Given the description of an element on the screen output the (x, y) to click on. 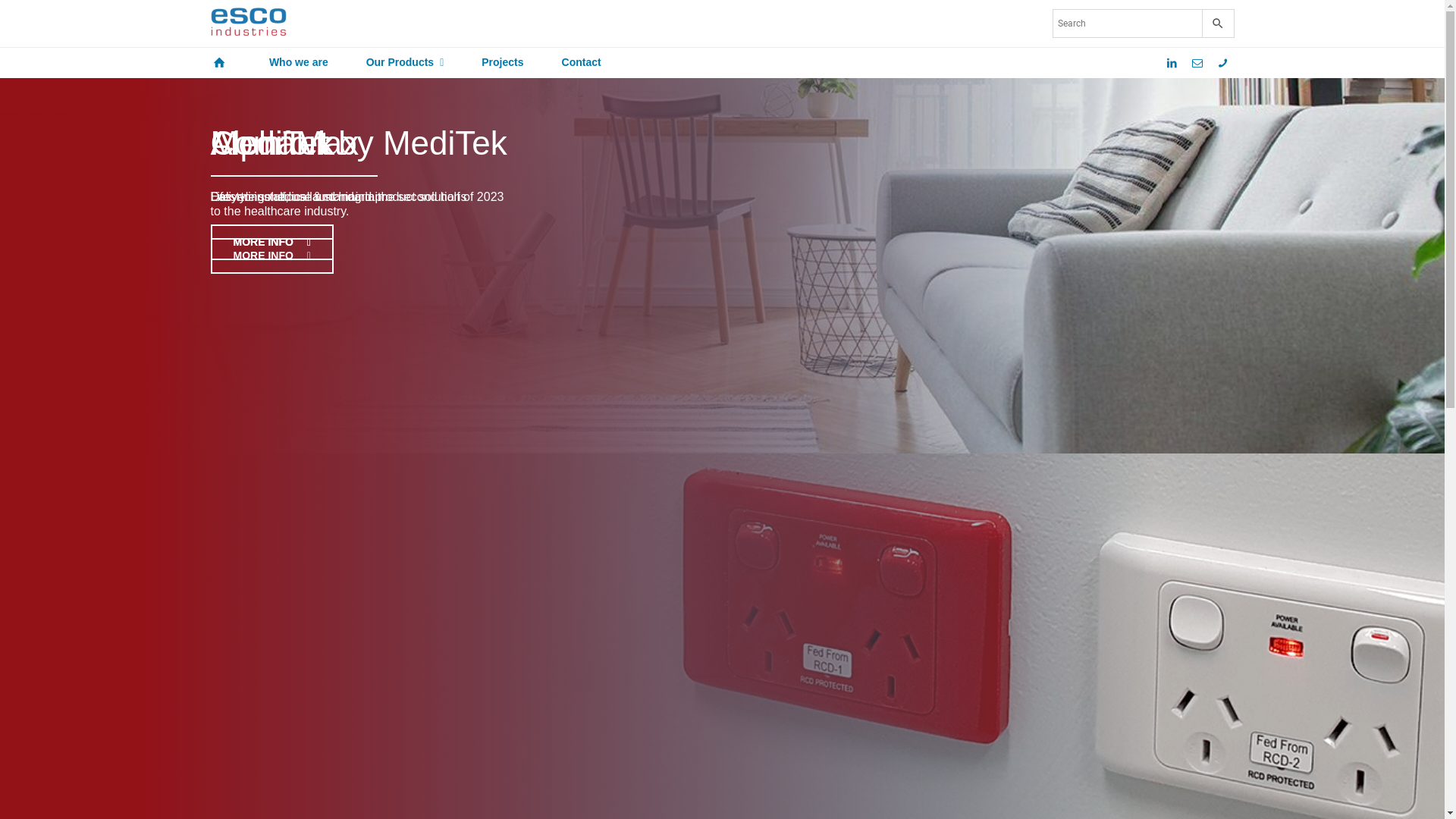
Projects Element type: text (502, 62)
ESCO Industries Element type: hover (248, 23)
MORE INFO Element type: text (271, 242)
Our Products Element type: text (405, 62)
MORE INFO Element type: text (271, 255)
Who we are Element type: text (298, 62)
Contact Element type: text (581, 62)
Call us on 1300 879 363 Element type: hover (1222, 62)
